Given the description of an element on the screen output the (x, y) to click on. 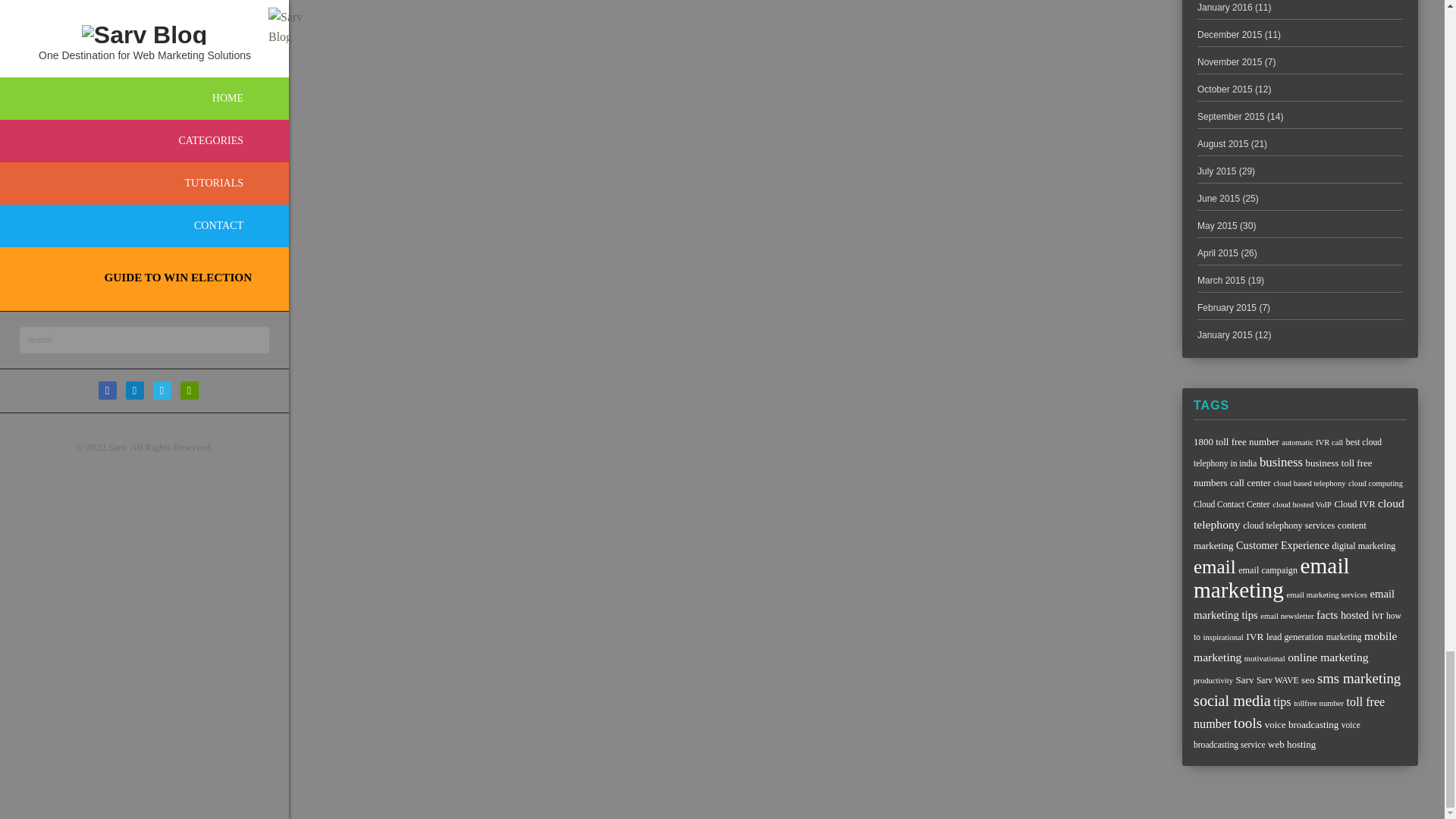
11 topics (1236, 441)
19 topics (1281, 462)
10 topics (1289, 525)
8 topics (1375, 483)
8 topics (1302, 504)
11 topics (1250, 482)
8 topics (1308, 483)
10 topics (1353, 503)
16 topics (1299, 513)
11 topics (1282, 472)
8 topics (1311, 442)
9 topics (1287, 452)
9 topics (1231, 503)
